Given the description of an element on the screen output the (x, y) to click on. 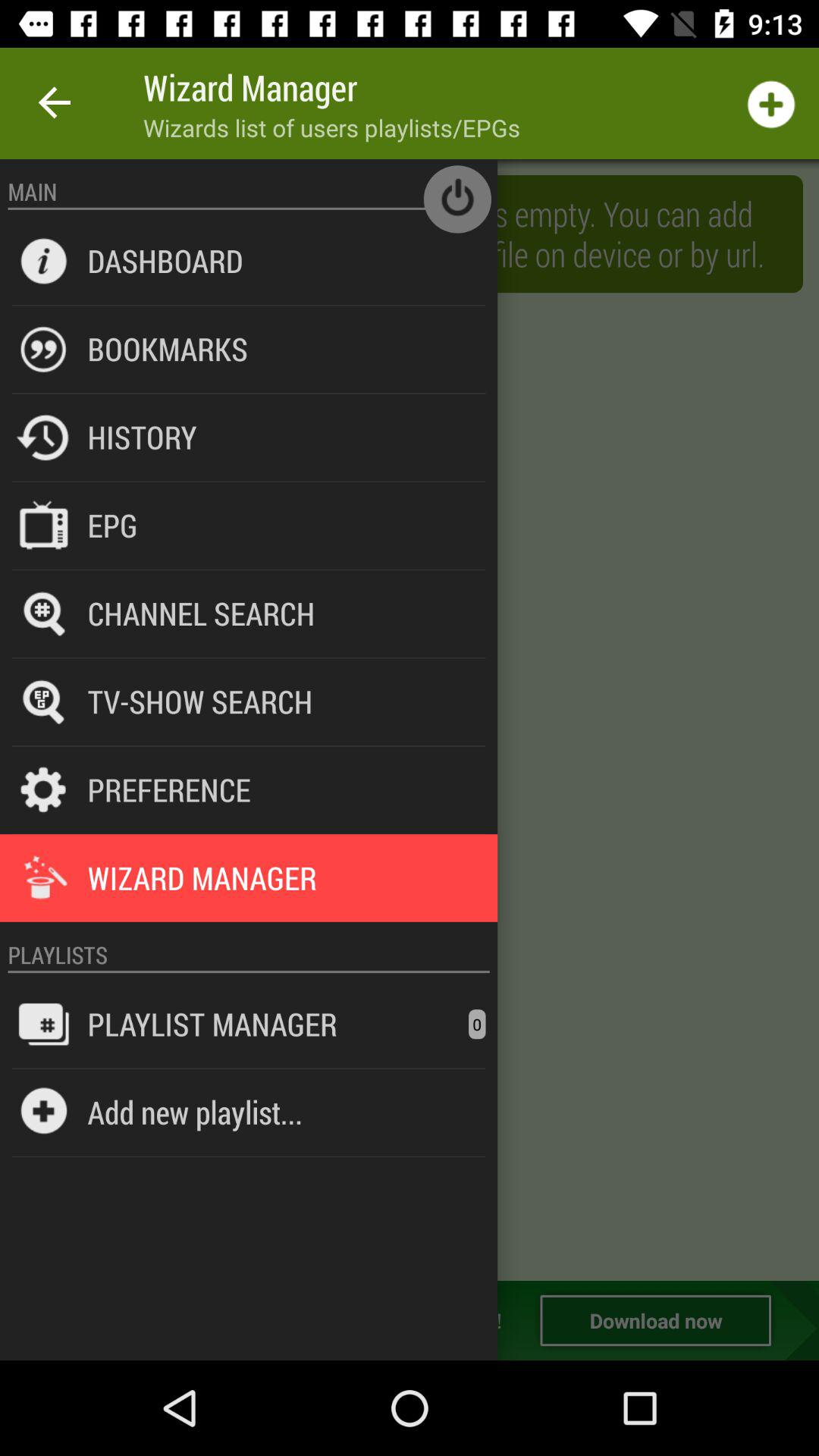
choose item next to wizards list is icon (165, 260)
